Given the description of an element on the screen output the (x, y) to click on. 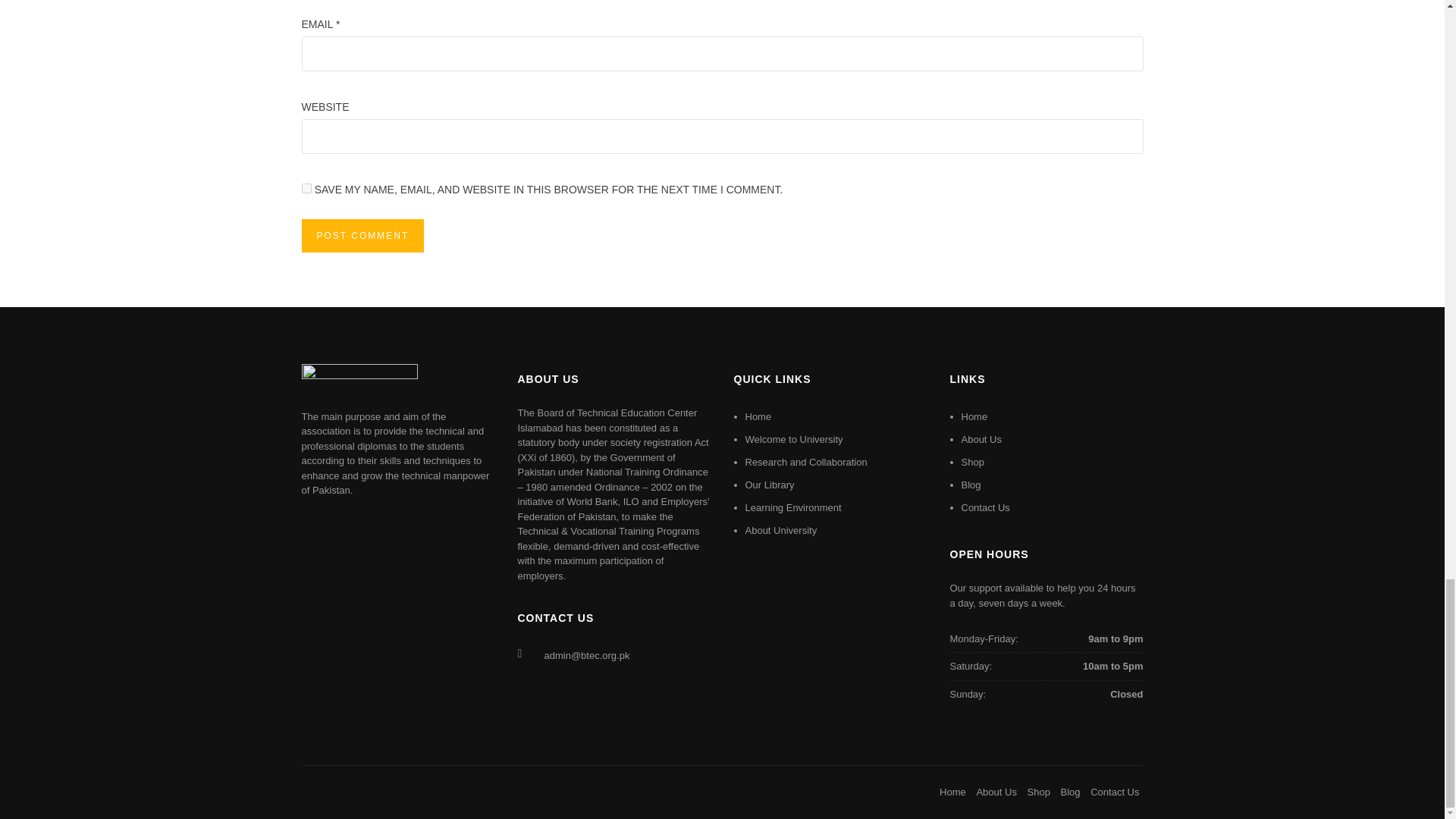
About Us (980, 439)
About University (780, 530)
Research and Collaboration (805, 461)
Post Comment (363, 235)
Home (974, 416)
Home (952, 791)
Our Library (768, 484)
Shop (972, 461)
Home (757, 416)
Shop (1038, 791)
Contact Us (985, 507)
Post Comment (363, 235)
About Us (995, 791)
Blog (970, 484)
yes (306, 188)
